Given the description of an element on the screen output the (x, y) to click on. 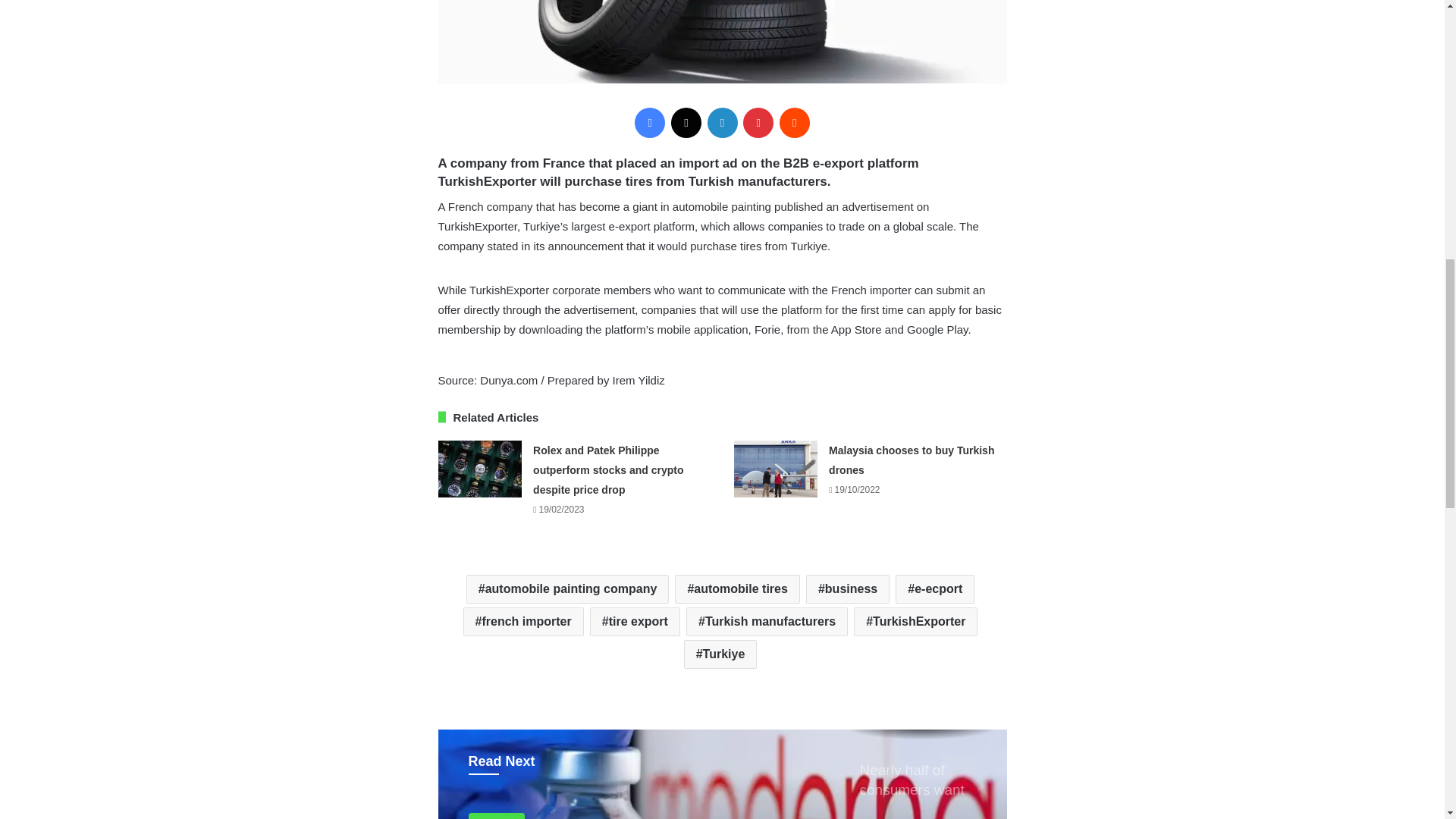
Facebook (649, 122)
Pinterest (757, 122)
X (686, 122)
Pinterest (757, 122)
LinkedIn (721, 122)
X (686, 122)
LinkedIn (721, 122)
Reddit (793, 122)
Malaysia chooses to buy Turkish drones (911, 459)
